Given the description of an element on the screen output the (x, y) to click on. 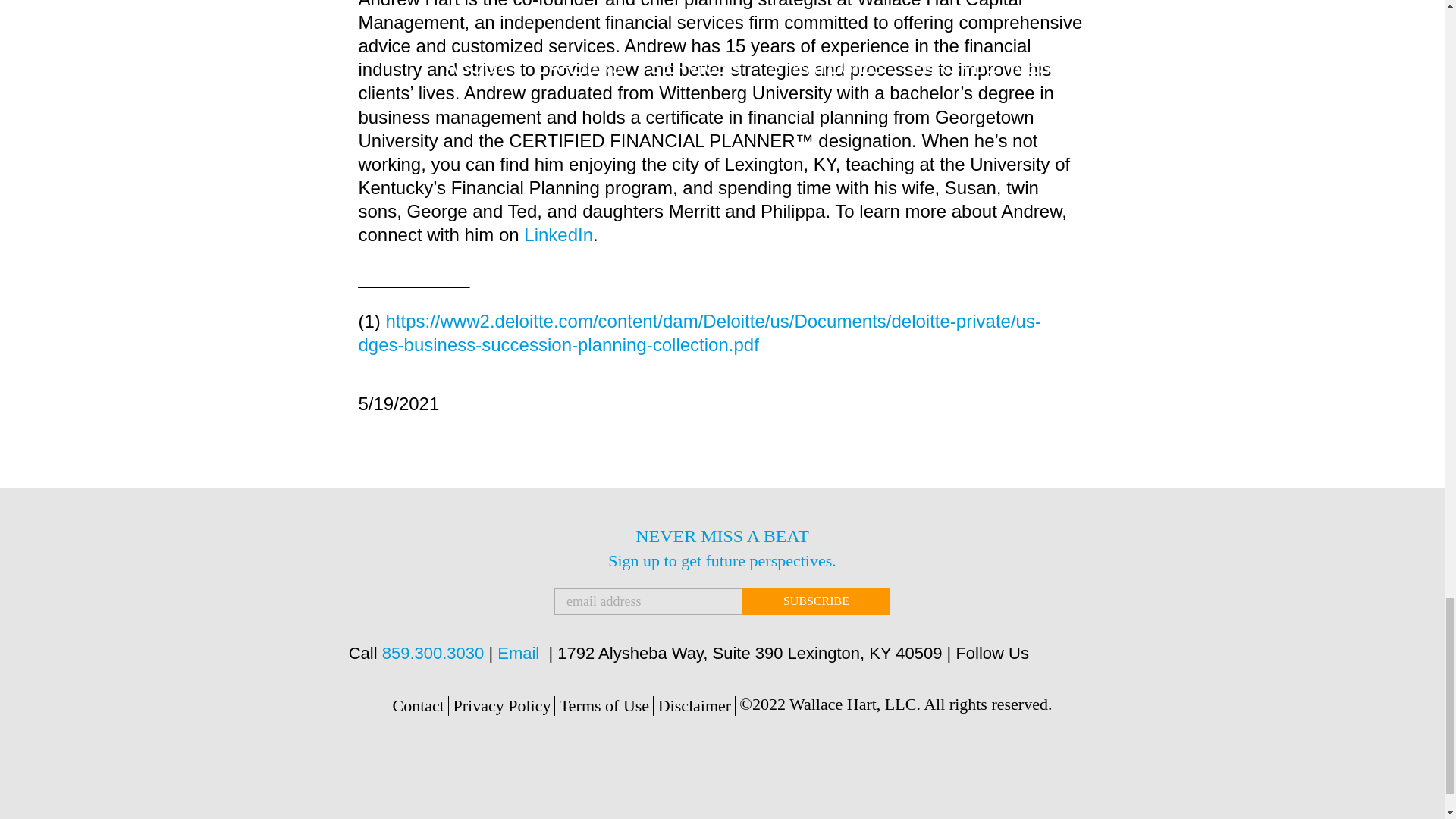
Subscribe (815, 601)
LinkedIn (1051, 654)
LinkedIn (558, 234)
Facebook (1082, 654)
859.300.3030 (432, 652)
Subscribe (815, 601)
